Given the description of an element on the screen output the (x, y) to click on. 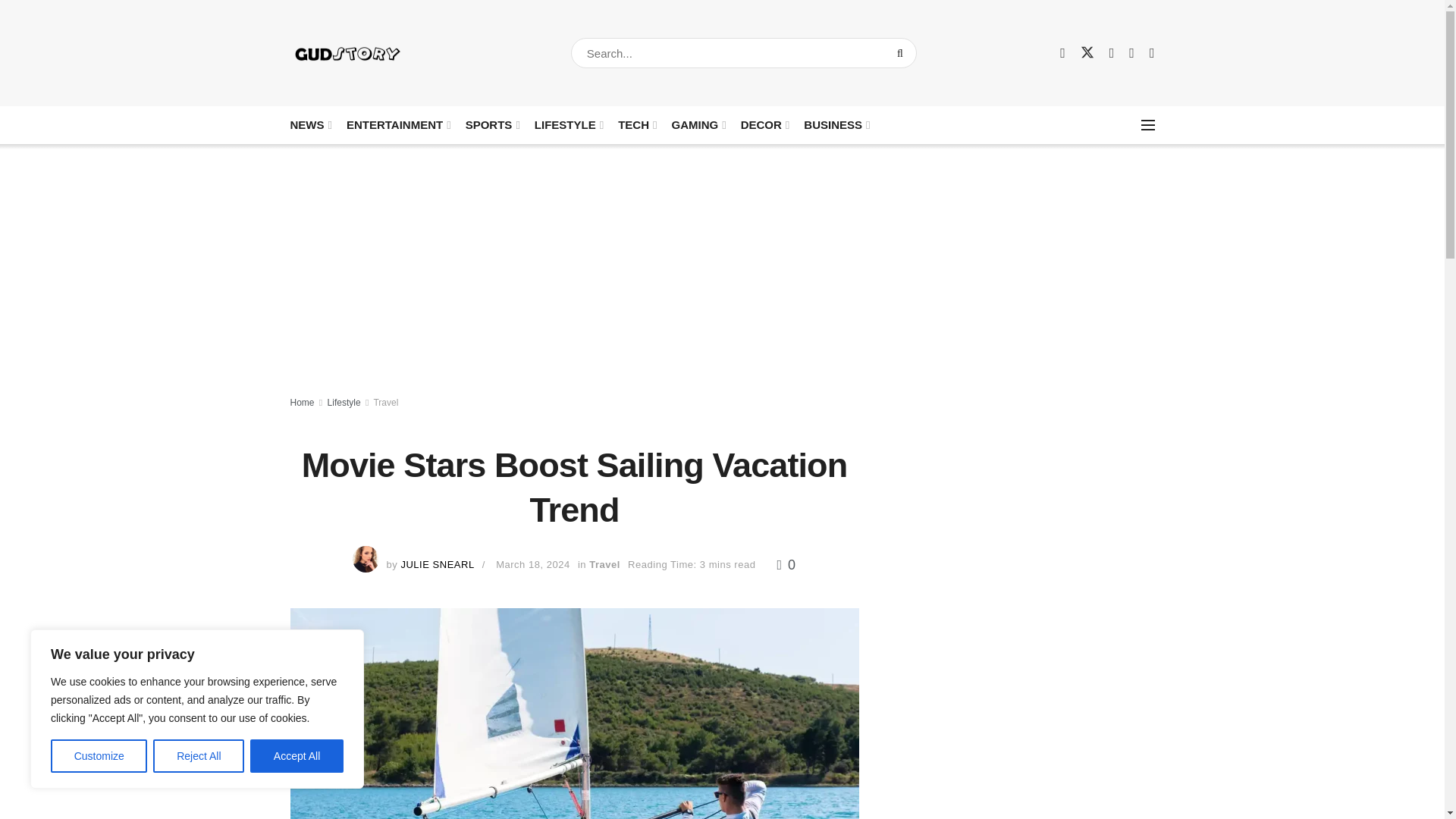
Advertisement (1023, 508)
Reject All (198, 756)
Accept All (296, 756)
Advertisement (1023, 731)
NEWS (309, 124)
Customize (98, 756)
